Given the description of an element on the screen output the (x, y) to click on. 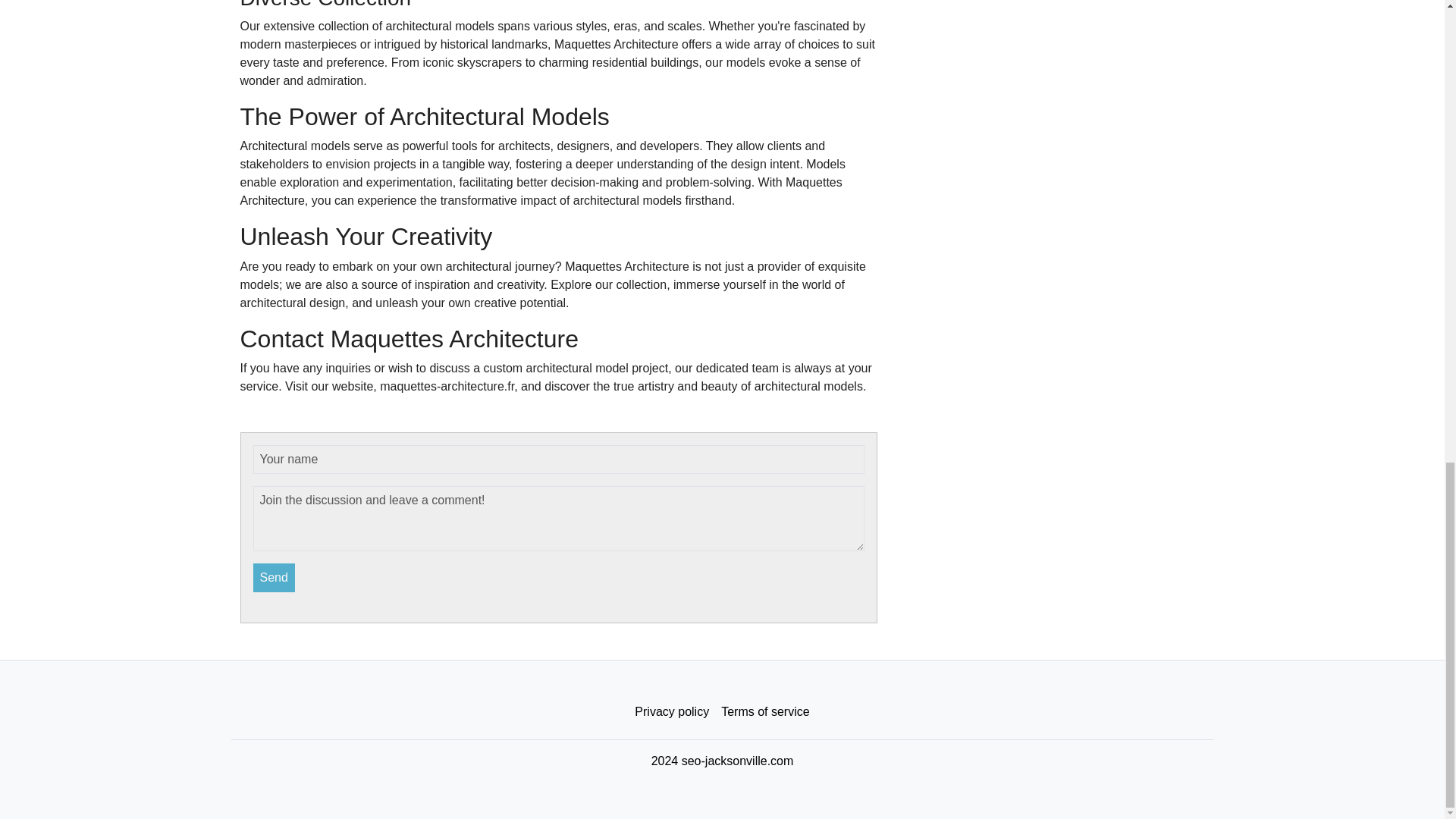
Terms of service (764, 711)
Send (274, 577)
Send (274, 577)
Privacy policy (671, 711)
